Given the description of an element on the screen output the (x, y) to click on. 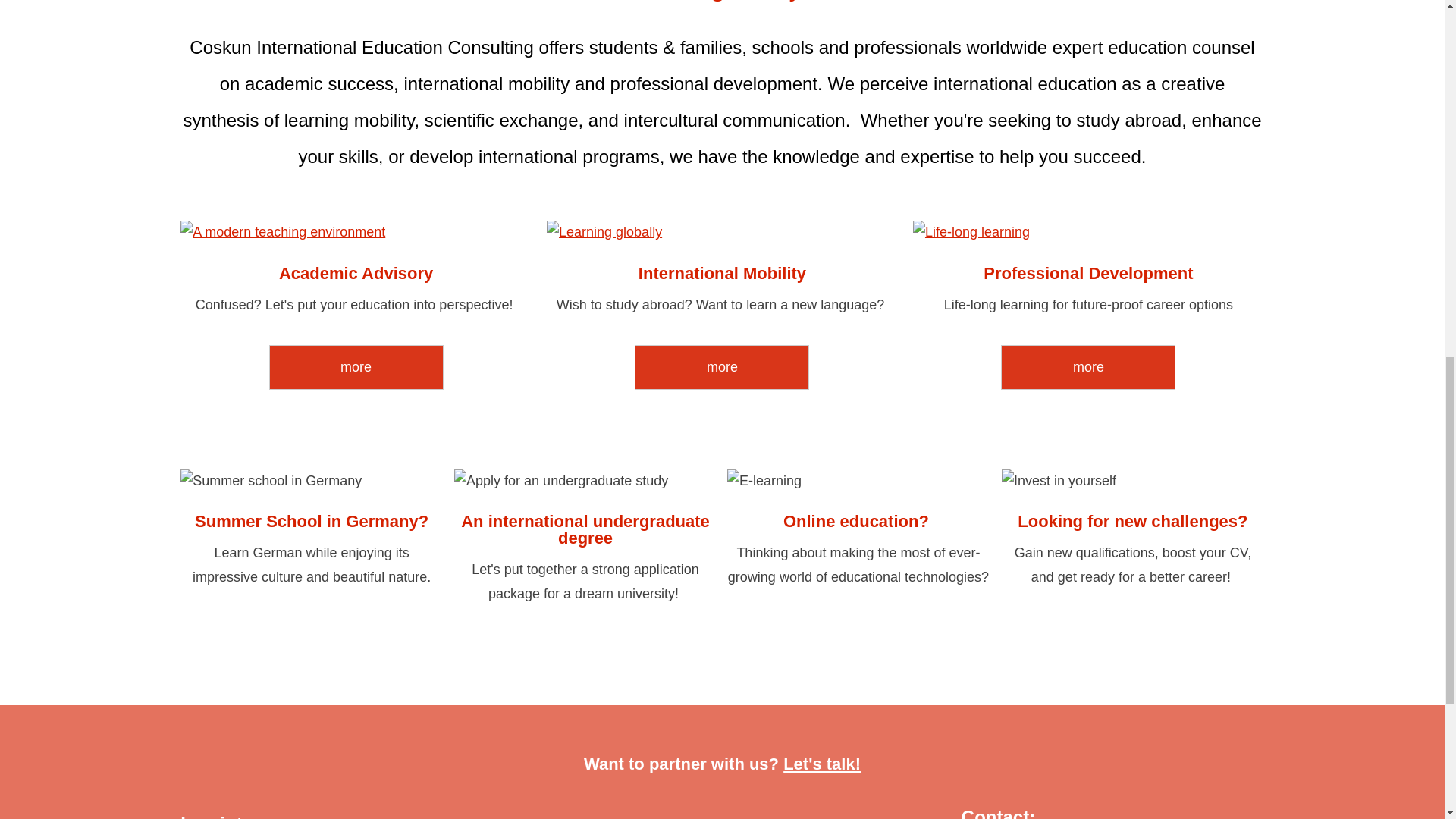
more (356, 366)
more (1087, 366)
Life-long learning (1087, 232)
Let's talk! (821, 763)
A modern teaching environment (355, 232)
Learning globally (722, 232)
Invest in yourself (1132, 481)
more (721, 366)
Summer school in Germany (311, 481)
Apply for an undergraduate study (585, 481)
Imprint (210, 816)
E-learning (858, 481)
